Given the description of an element on the screen output the (x, y) to click on. 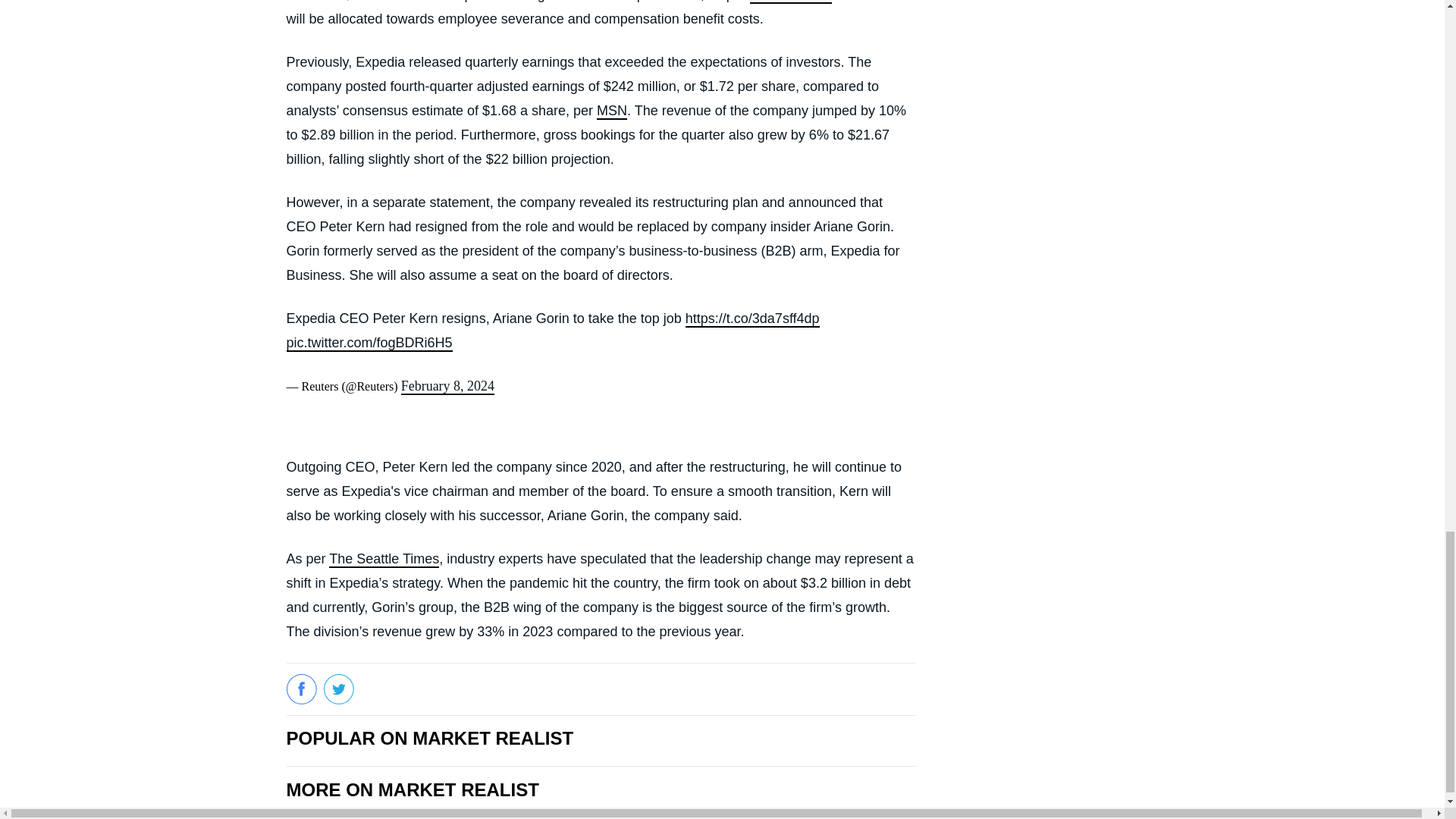
The Seattle Times (384, 559)
February 8, 2024 (448, 386)
MSN (611, 111)
Fox Business (790, 2)
